Given the description of an element on the screen output the (x, y) to click on. 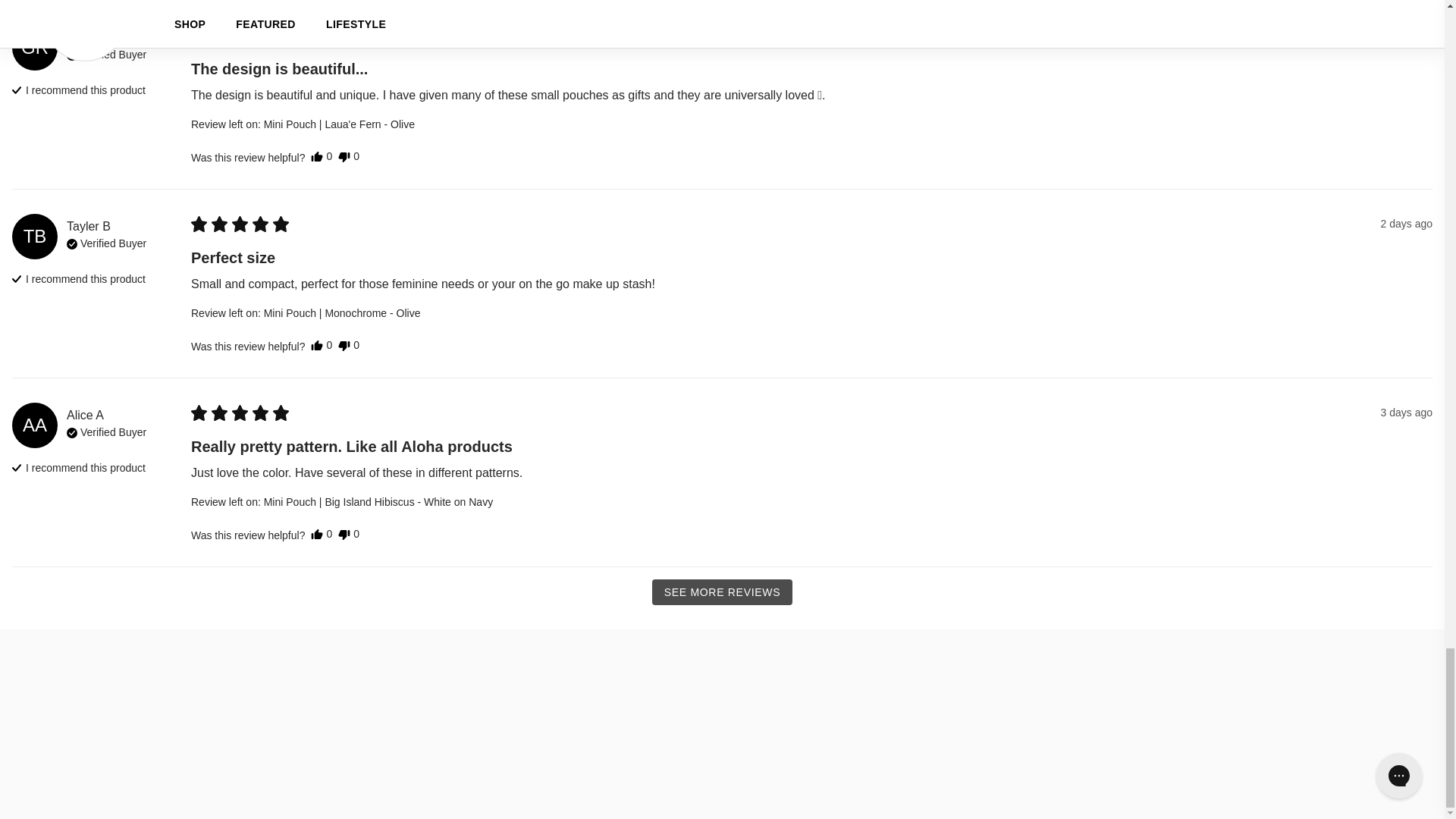
SEE MORE REVIEWS (722, 592)
